Given the description of an element on the screen output the (x, y) to click on. 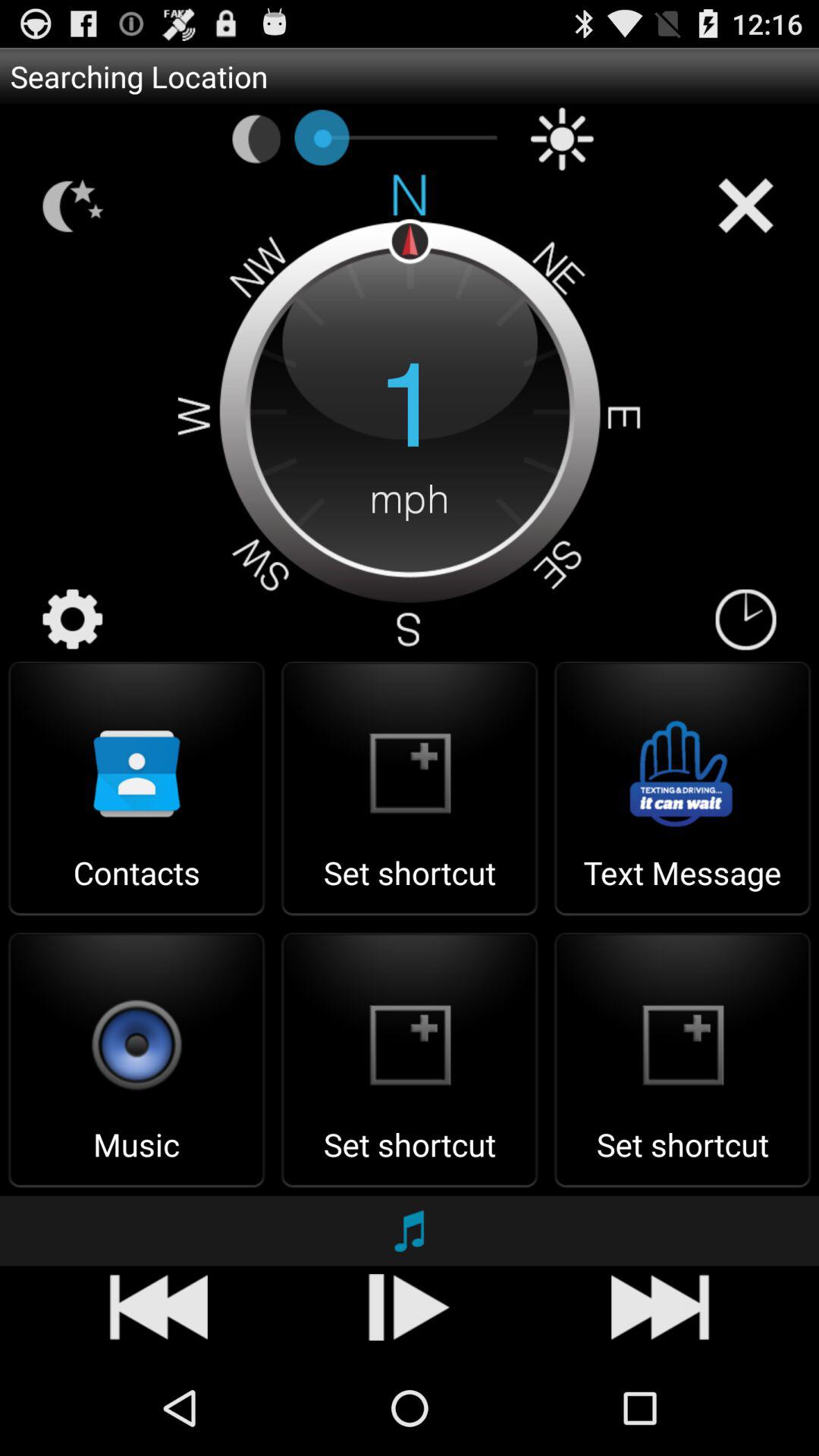
launch the 1 (409, 408)
